Given the description of an element on the screen output the (x, y) to click on. 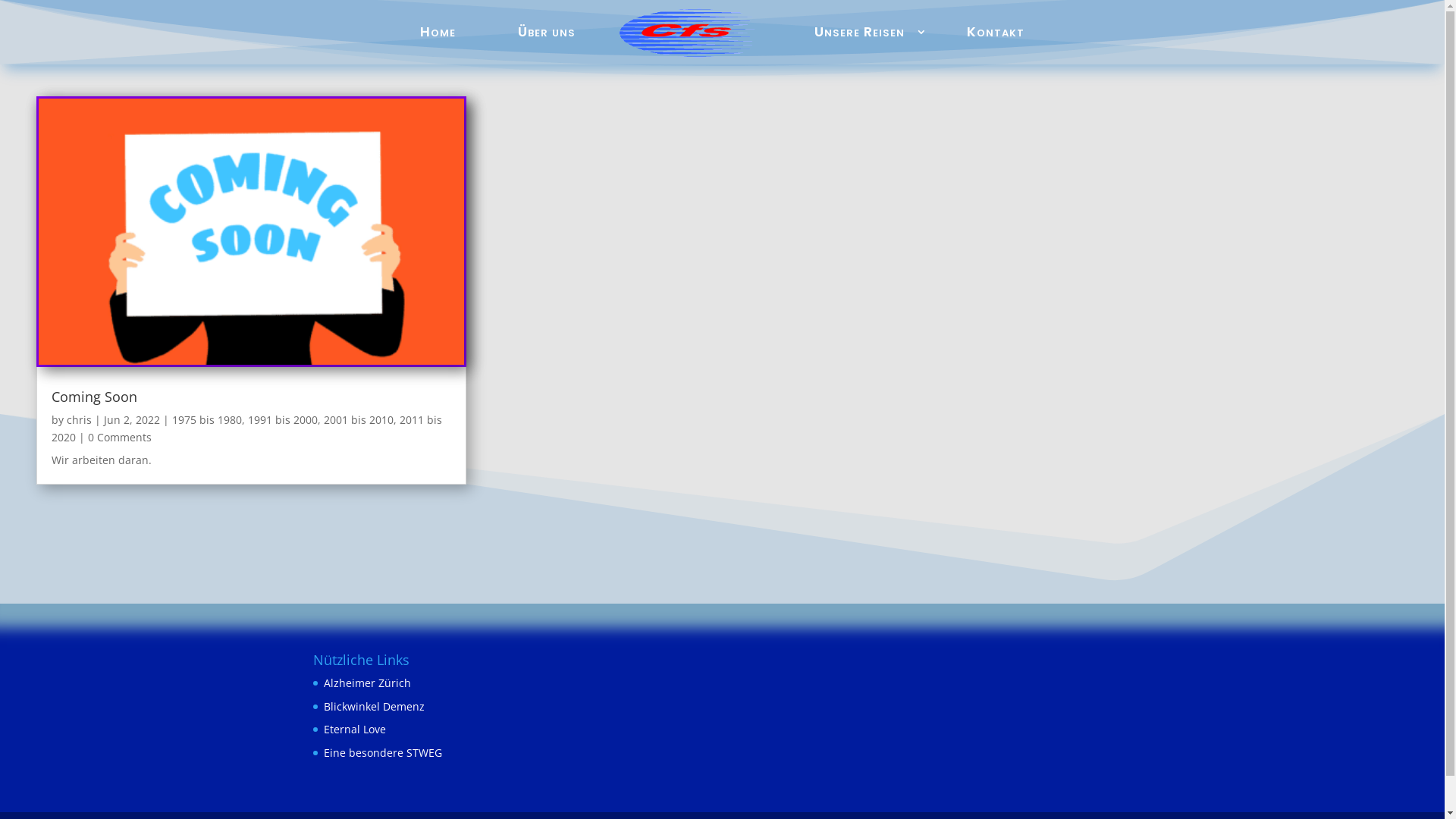
Eternal Love Element type: text (354, 728)
Coming Soon Element type: text (94, 396)
Blickwinkel Demenz Element type: text (373, 706)
2001 bis 2010 Element type: text (358, 419)
chris Element type: text (78, 419)
Eine besondere STWEG Element type: text (382, 752)
Kontakt Element type: text (995, 31)
Home Element type: text (437, 31)
2011 bis 2020 Element type: text (246, 428)
1975 bis 1980 Element type: text (206, 419)
Unsere Reisen Element type: text (859, 31)
1991 bis 2000 Element type: text (282, 419)
